Given the description of an element on the screen output the (x, y) to click on. 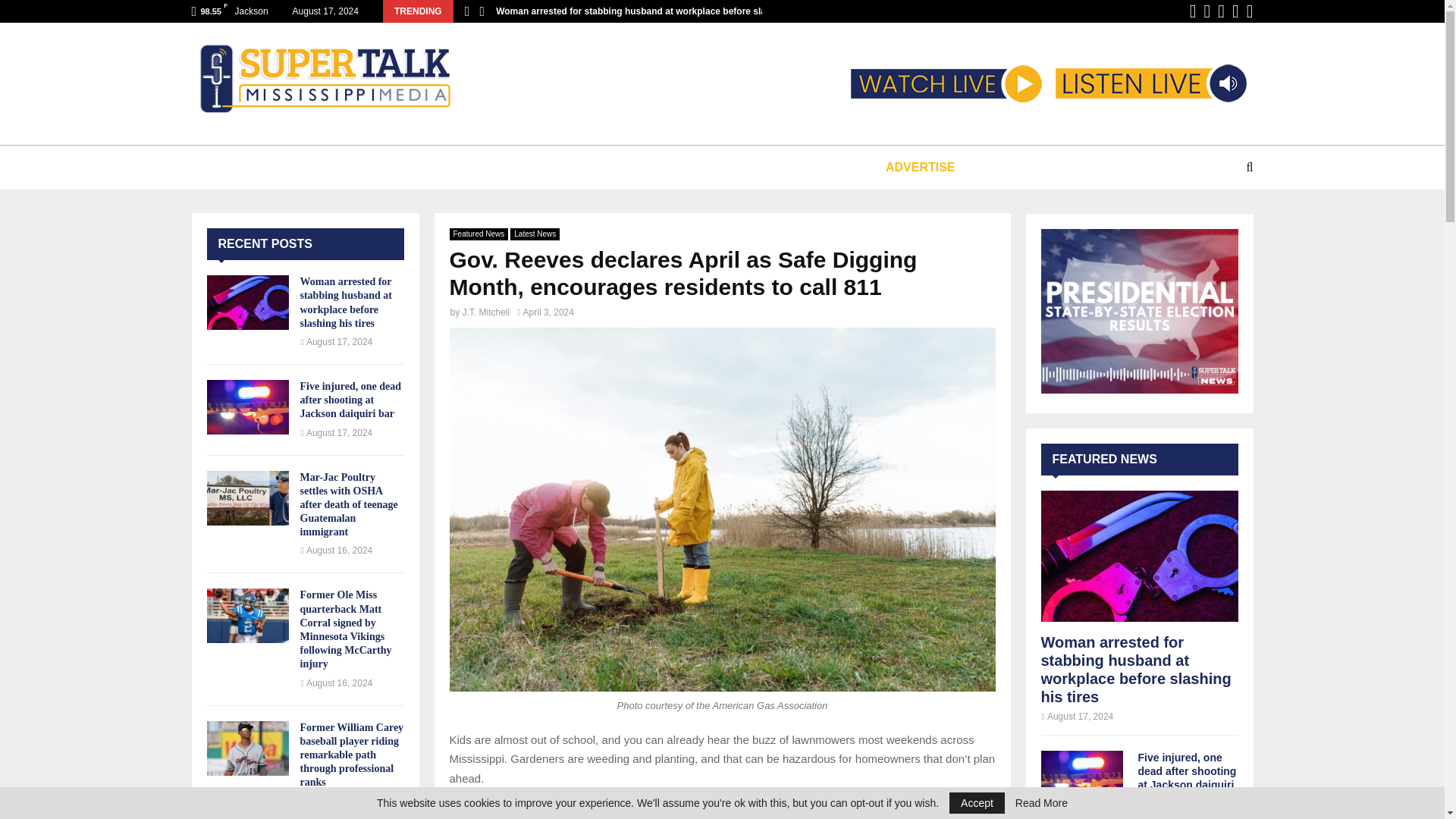
STATIONS (345, 167)
TUNE IN (255, 167)
